Given the description of an element on the screen output the (x, y) to click on. 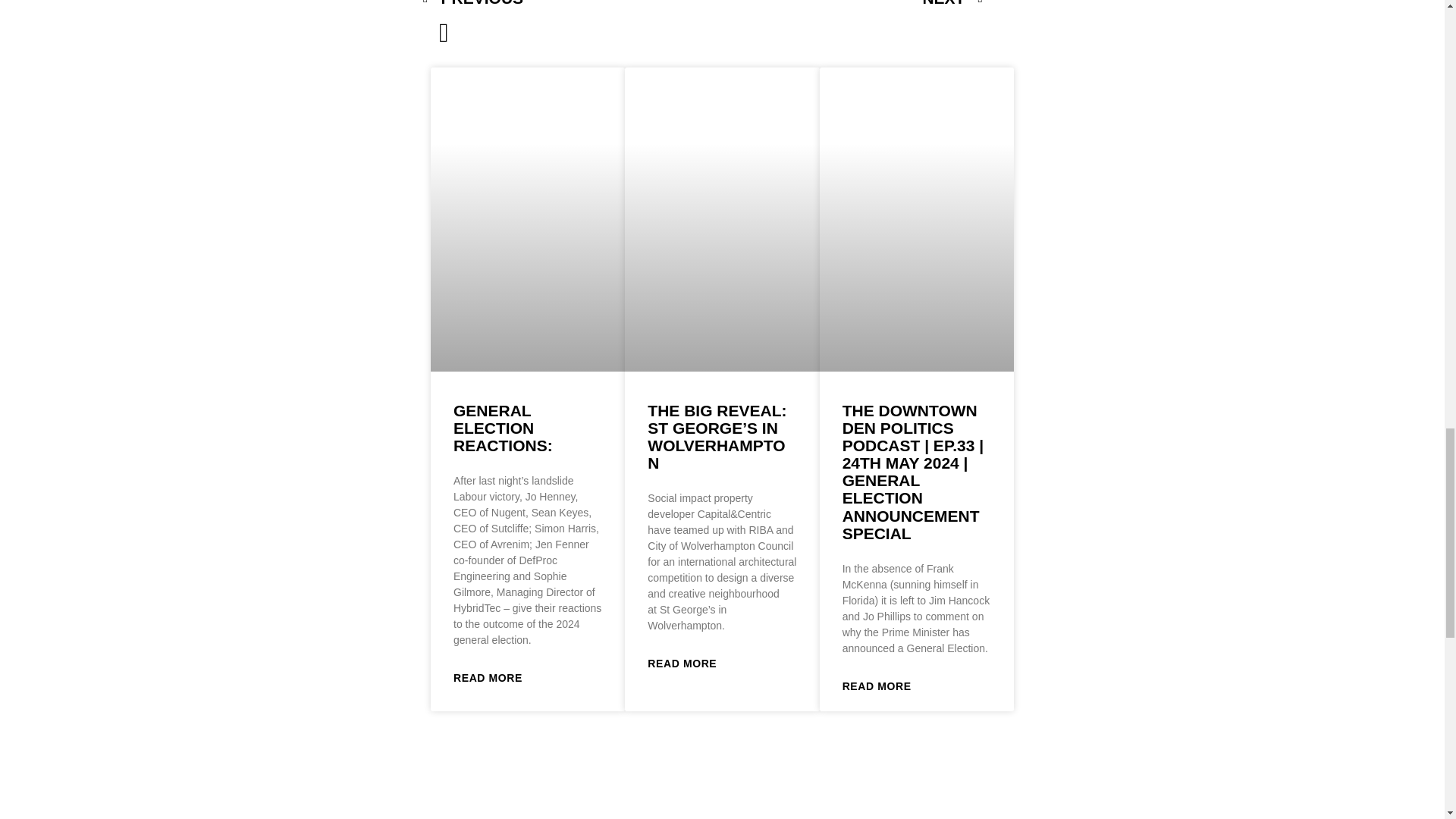
PREVIOUS (563, 6)
READ MORE (487, 678)
GENERAL ELECTION REACTIONS: (502, 428)
NEXT (842, 6)
